Given the description of an element on the screen output the (x, y) to click on. 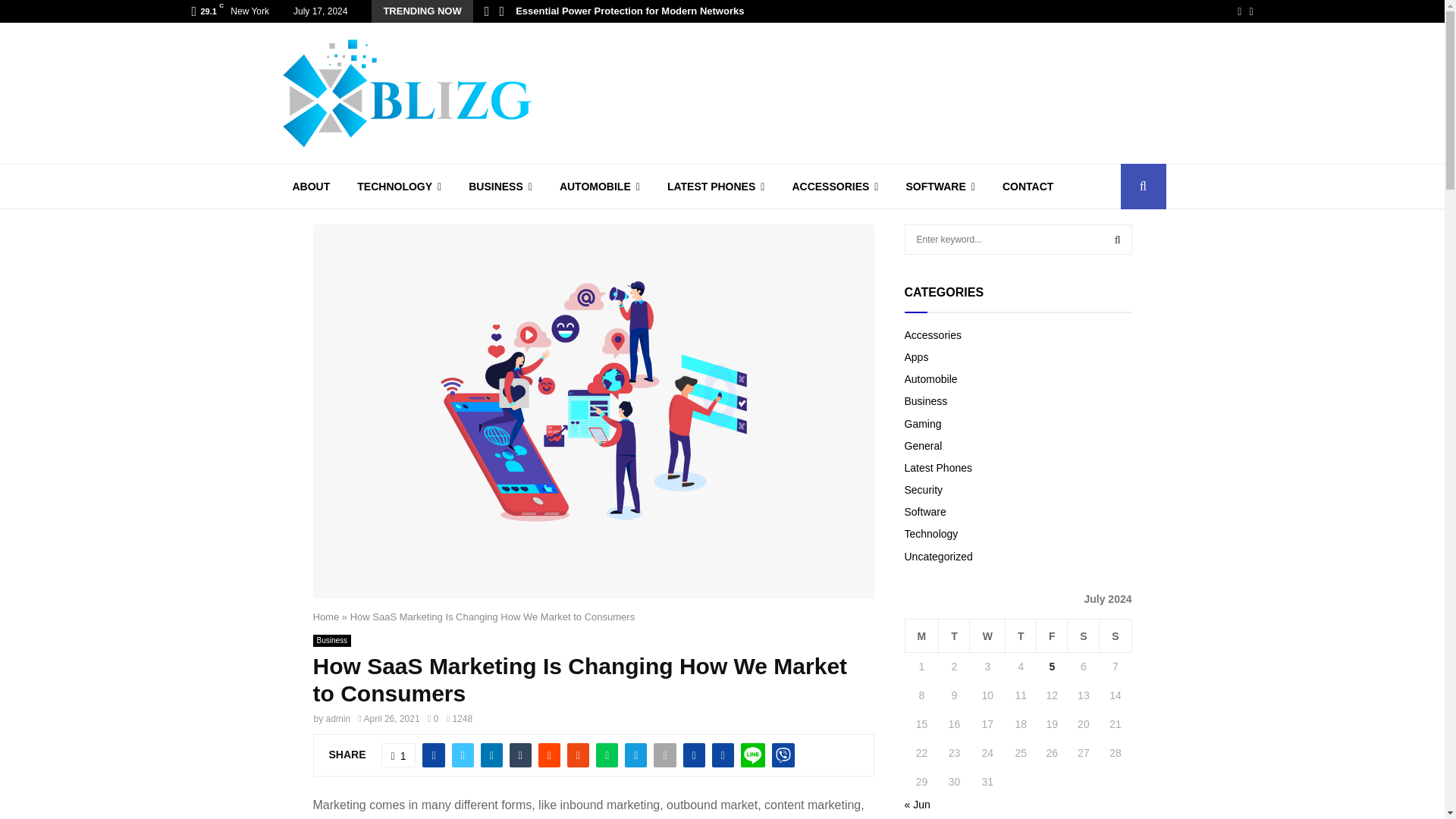
Twitter (1250, 11)
ABOUT (311, 186)
Facebook (1239, 11)
Twitter (1250, 11)
TECHNOLOGY (398, 186)
Essential Power Protection for Modern Networks (629, 10)
Facebook (1239, 11)
